Given the description of an element on the screen output the (x, y) to click on. 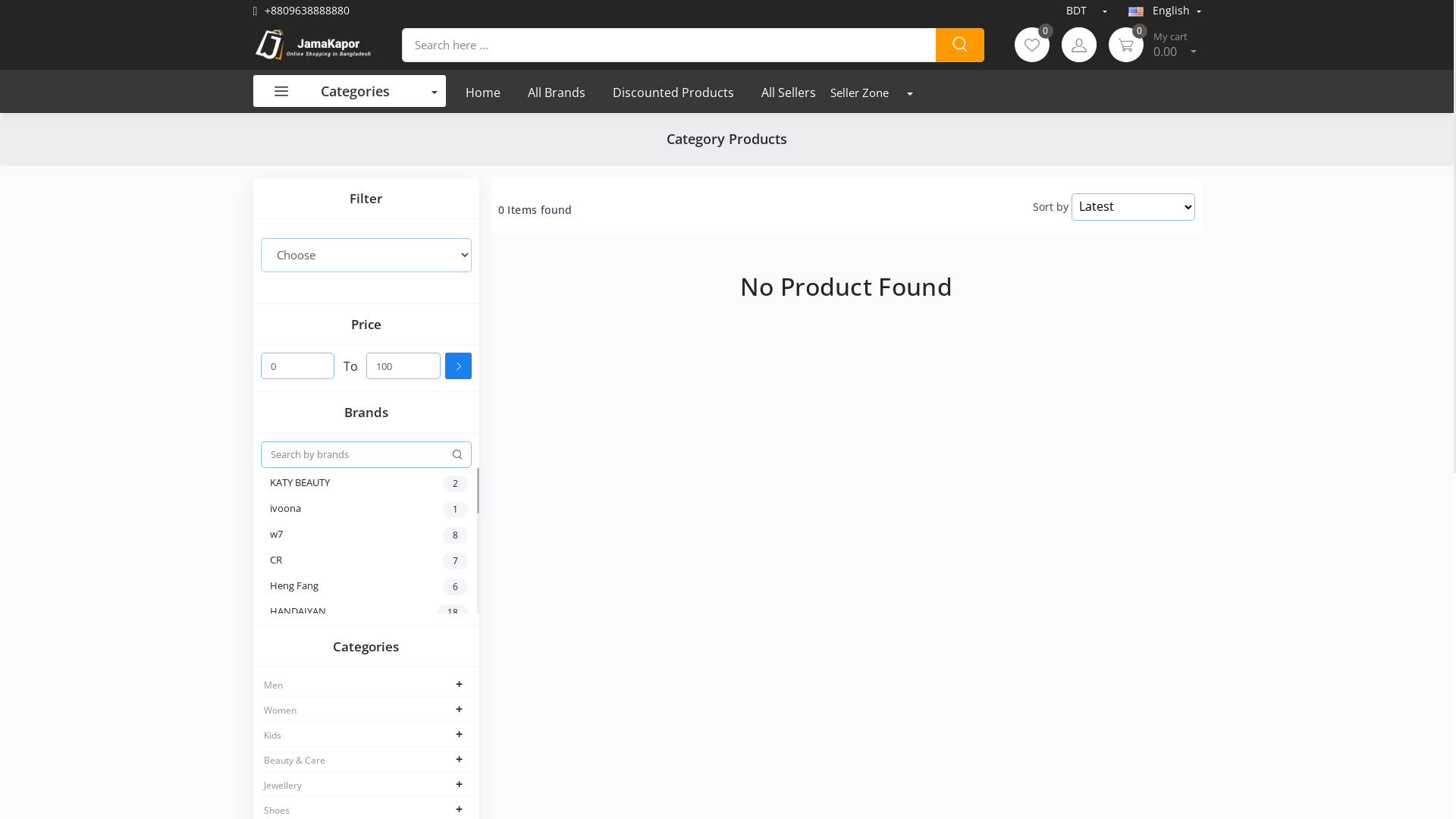
KATY BEAUTY
2 Element type: text (374, 483)
Beauty & Care Element type: text (294, 760)
HANDAIYAN
18 Element type: text (374, 612)
Discounted Products Element type: text (673, 91)
+ Element type: text (458, 733)
0 Element type: text (1125, 44)
Men Element type: text (272, 685)
Seller Zone Element type: text (879, 92)
BOB
1 Element type: text (374, 664)
All Brands Element type: text (556, 91)
Kids Element type: text (272, 735)
Categories Element type: text (349, 90)
+ Element type: text (458, 809)
w7
8 Element type: text (374, 535)
sesa
1 Element type: text (374, 713)
Heng Fang
6 Element type: text (374, 586)
technic
3 Element type: text (374, 739)
Shoes Element type: text (276, 810)
Jewellery Element type: text (282, 785)
+ Element type: text (458, 758)
ivoona
1 Element type: text (374, 509)
CR
7 Element type: text (374, 561)
+ Element type: text (458, 784)
English Element type: text (1164, 10)
Home Element type: text (482, 91)
+ Element type: text (458, 708)
PONDS
2 Element type: text (374, 765)
All Sellers Element type: text (788, 91)
0 Element type: text (1031, 44)
Women Element type: text (279, 710)
Fair & Lovely
2 Element type: text (374, 790)
+ Element type: text (458, 683)
maliao Element type: text (374, 689)
ROMANTIC MAY
6 Element type: text (374, 638)
+8809638888880 Element type: text (301, 10)
